Given the description of an element on the screen output the (x, y) to click on. 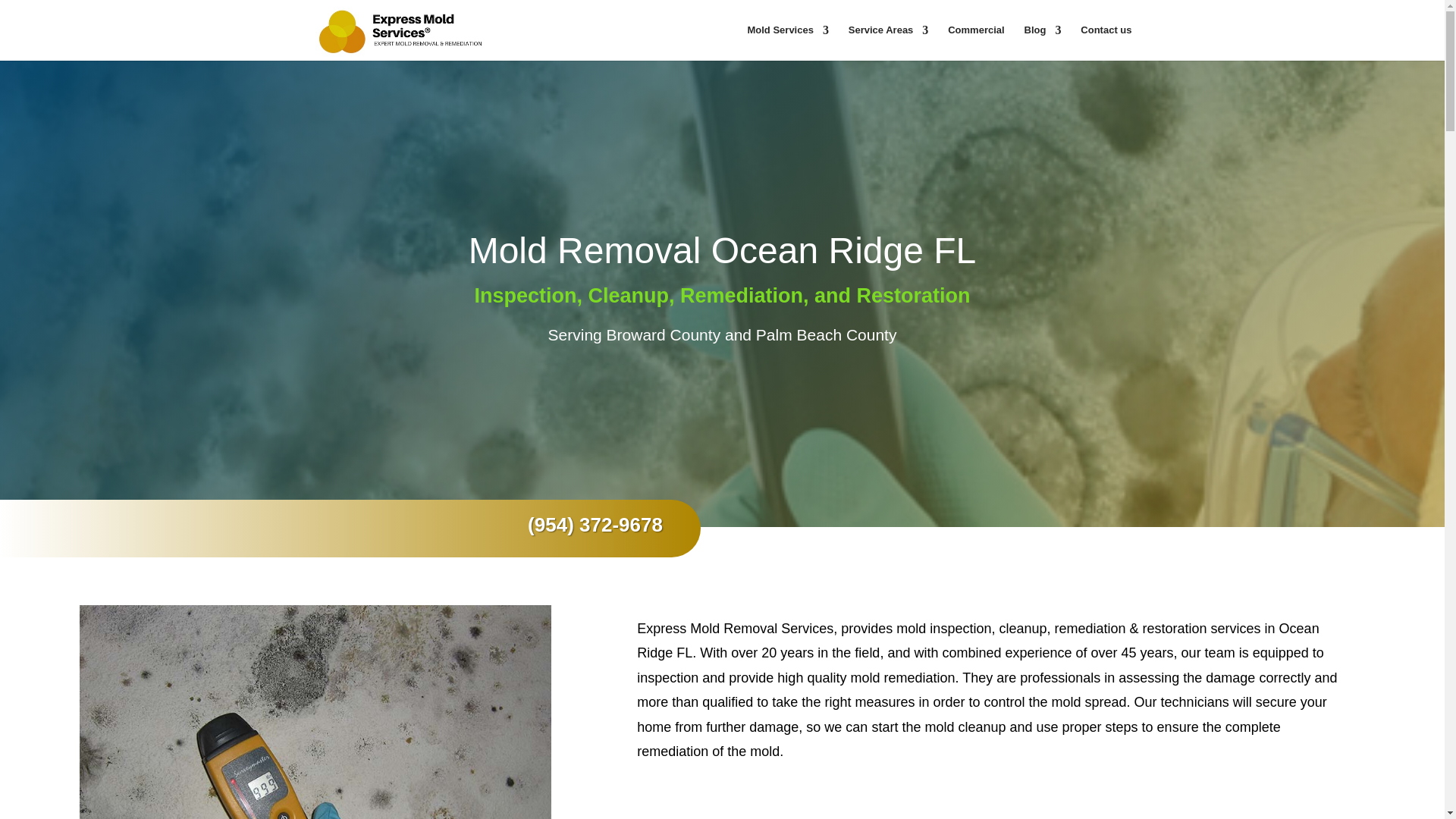
Mold Services (787, 42)
Mold Testing (315, 712)
Contact us (1105, 42)
Commercial (975, 42)
Blog (1043, 42)
Service Areas (888, 42)
